Given the description of an element on the screen output the (x, y) to click on. 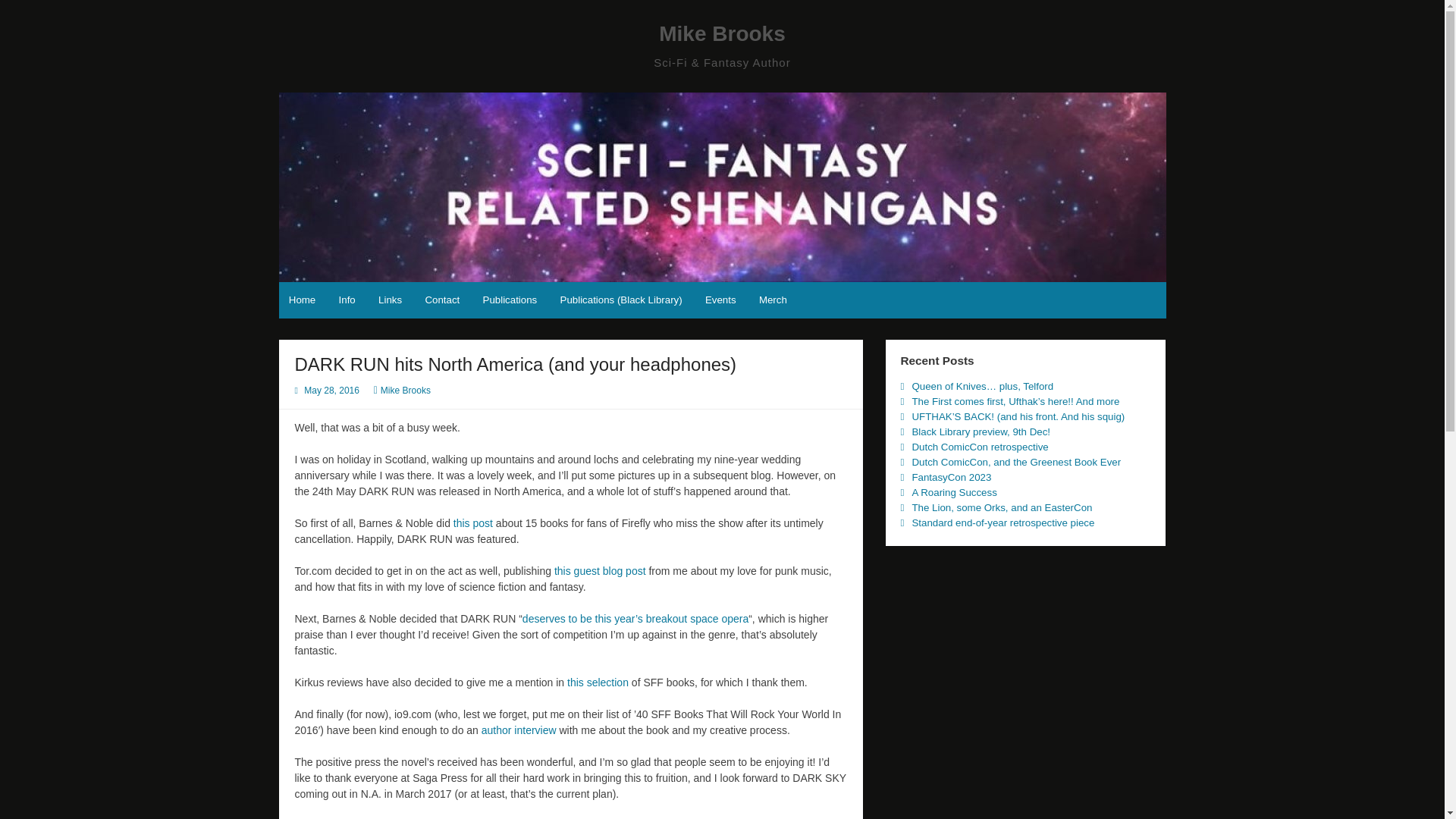
Dutch ComicCon retrospective (979, 446)
Contact (441, 299)
author interview (518, 729)
Dutch ComicCon, and the Greenest Book Ever (1016, 461)
Black Library preview, 9th Dec! (980, 431)
Events (720, 299)
this post (471, 522)
Info (347, 299)
this selection (597, 682)
FantasyCon 2023 (951, 477)
Publications (509, 299)
Home (302, 299)
Standard end-of-year retrospective piece (1002, 522)
The Lion, some Orks, and an EasterCon (1001, 507)
this guest blog post (600, 571)
